Given the description of an element on the screen output the (x, y) to click on. 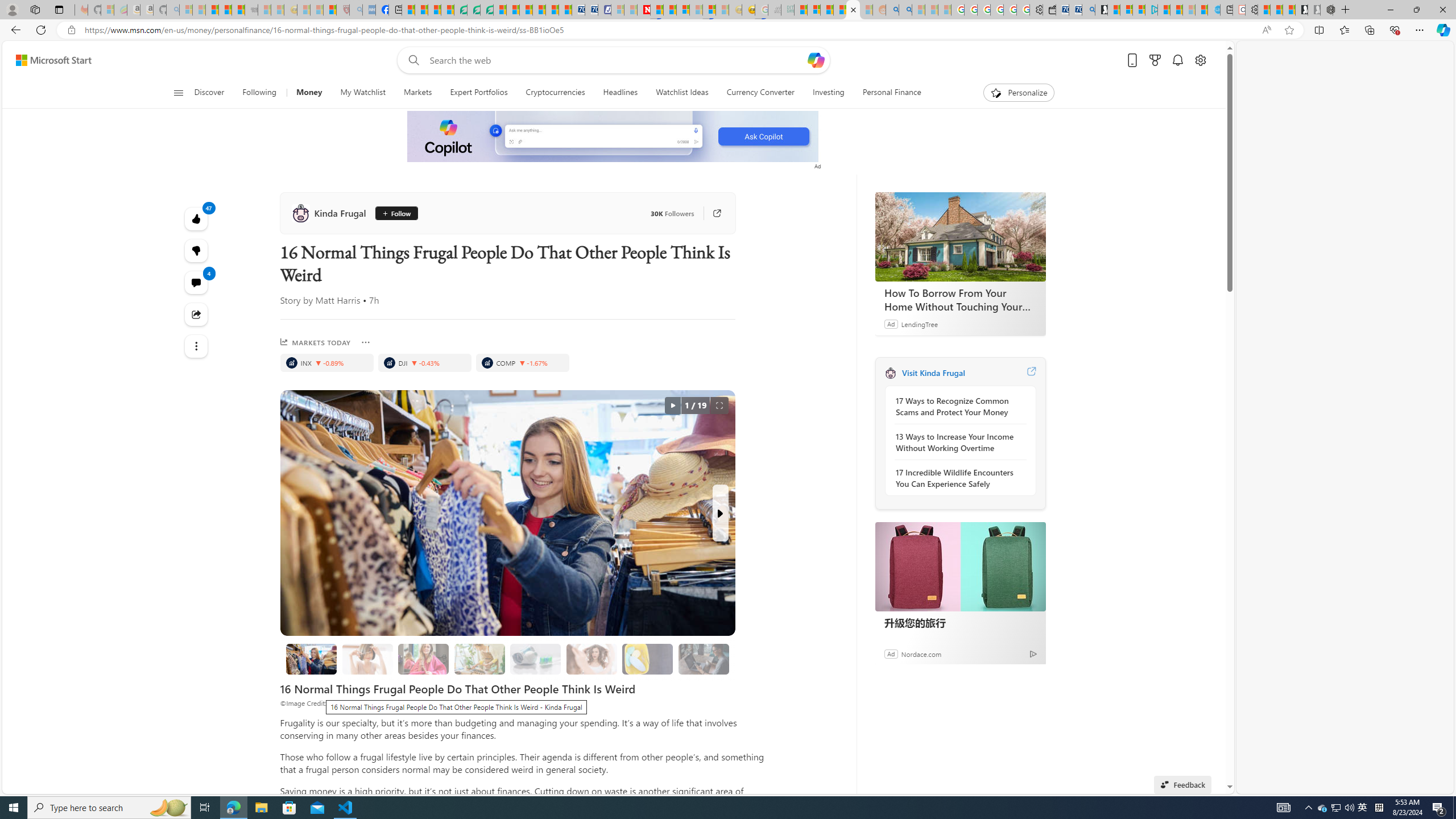
Latest Politics News & Archive | Newsweek.com (643, 9)
4. Cutting the Bottom off the Toothpaste Tube (534, 659)
13 Ways to Increase Your Income Without Working Overtime (957, 441)
INX, S&P 500. Price is 5,570.64. Decreased by -0.89% (326, 362)
Visit Kinda Frugal website (1031, 372)
Personal Finance (887, 92)
Share this story (196, 314)
Cryptocurrencies (555, 92)
Personalize (1019, 92)
Microsoft account | Privacy - Sleeping (1126, 9)
Follow (396, 213)
My Watchlist (362, 92)
